Given the description of an element on the screen output the (x, y) to click on. 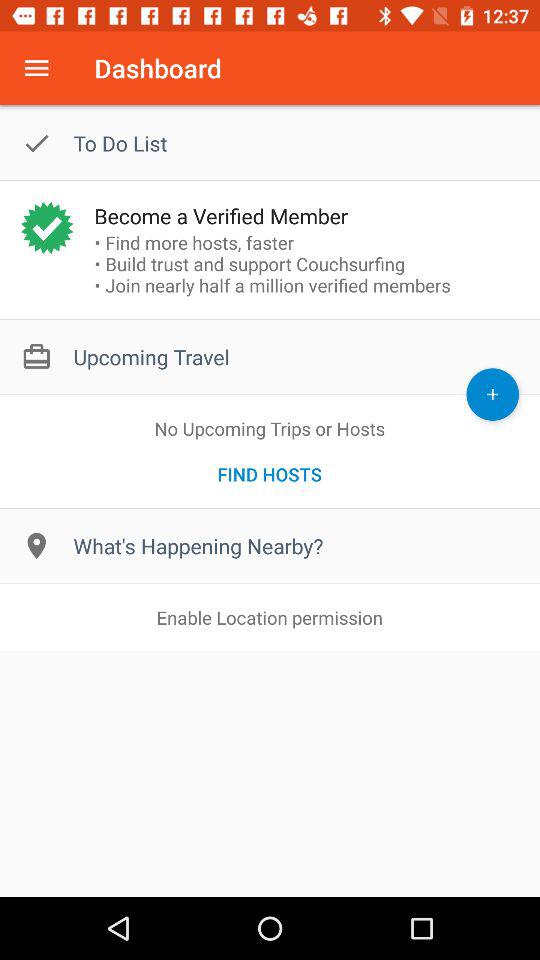
go to menu (36, 68)
